Given the description of an element on the screen output the (x, y) to click on. 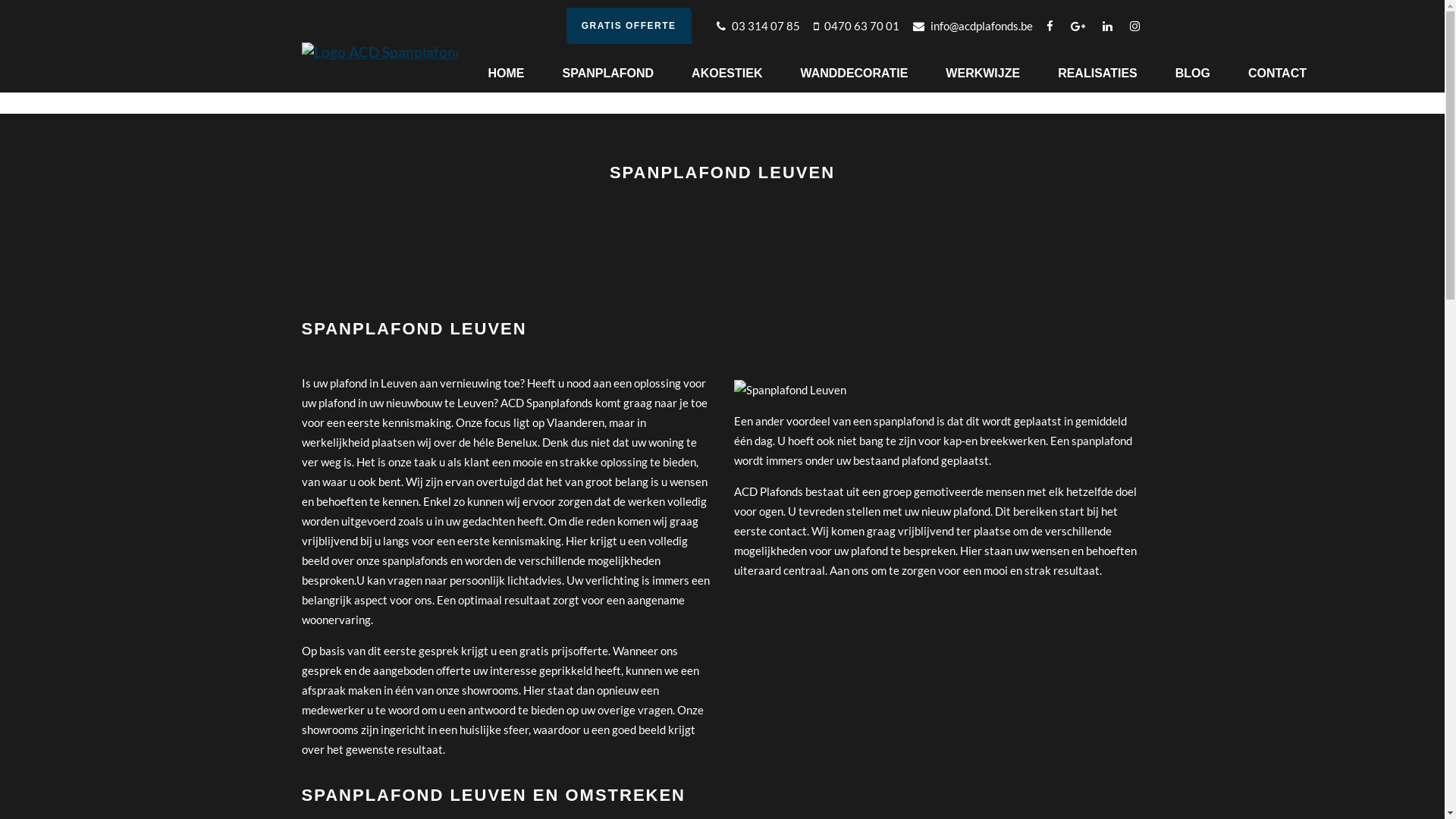
0470 63 70 01 Element type: text (855, 25)
WANDDECORATIE Element type: text (853, 73)
GRATIS OFFERTE Element type: text (628, 25)
WERKWIJZE Element type: text (982, 73)
REALISATIES Element type: text (1097, 73)
03 314 07 85 Element type: text (757, 25)
HOME Element type: text (505, 73)
SPANPLAFOND Element type: text (607, 73)
AKOESTIEK Element type: text (726, 73)
info@acdplafonds.be Element type: text (972, 25)
CONTACT Element type: text (1267, 73)
BLOG Element type: text (1192, 73)
